Given the description of an element on the screen output the (x, y) to click on. 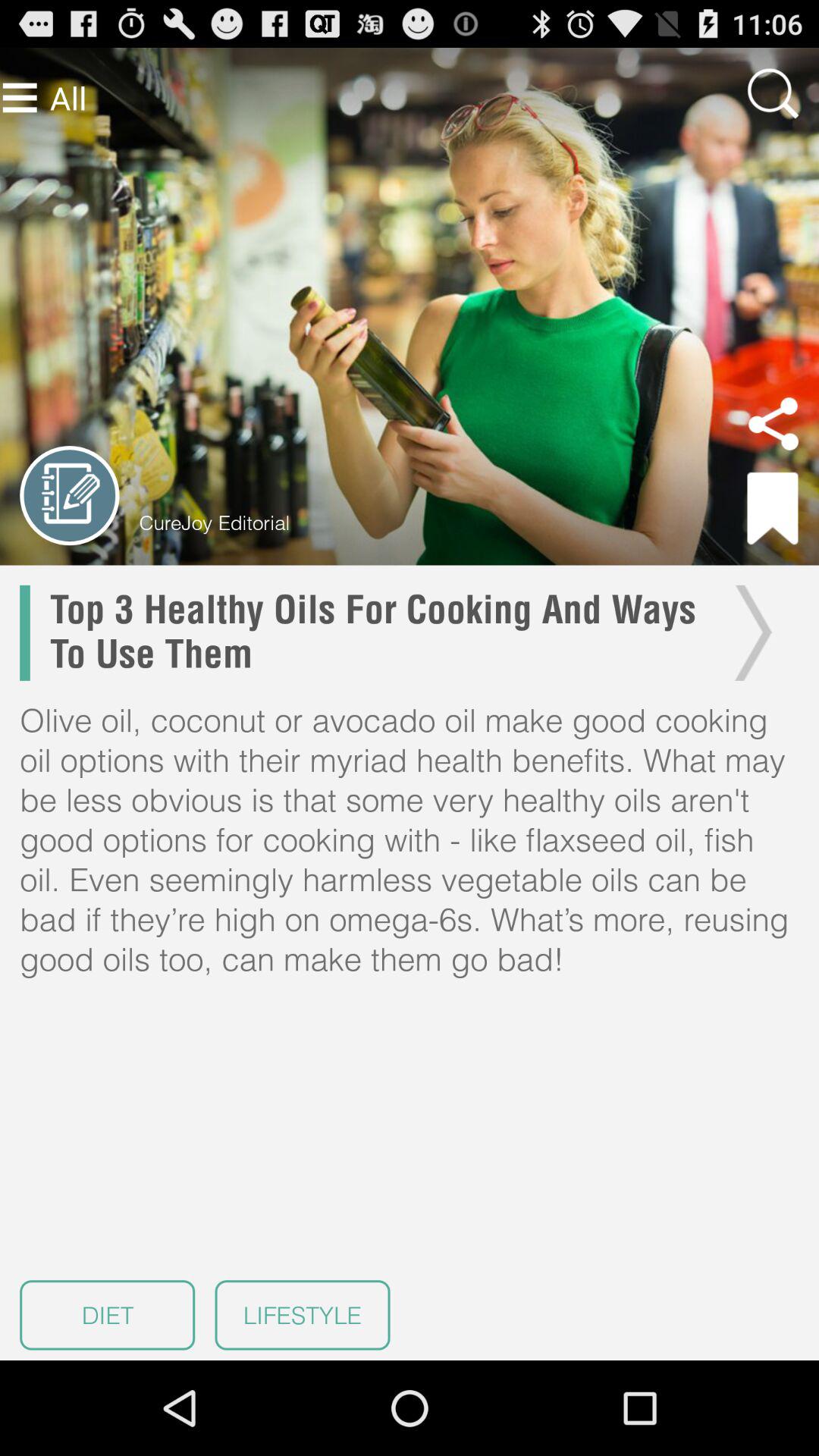
zoom image (773, 93)
